Given the description of an element on the screen output the (x, y) to click on. 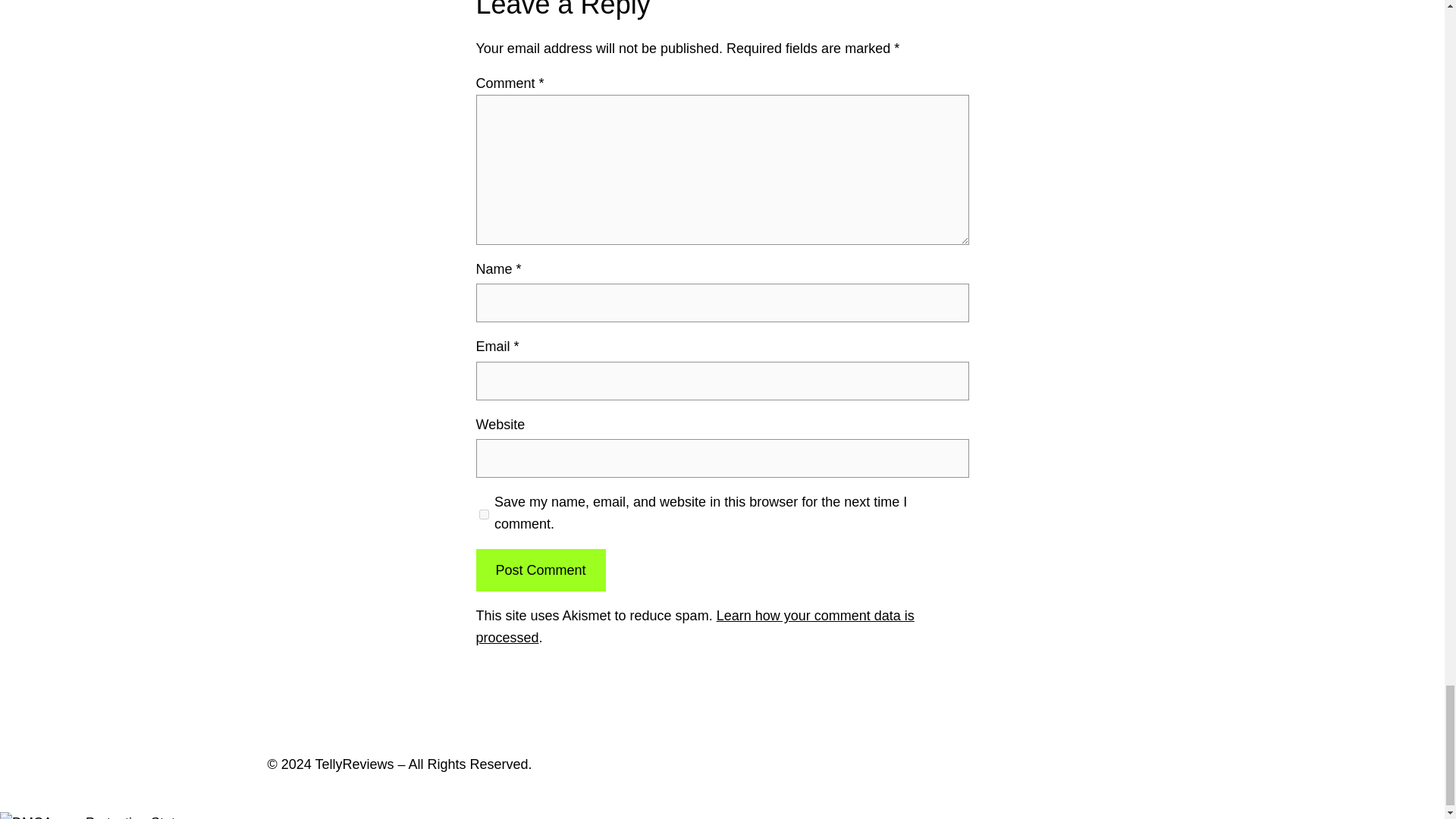
Post Comment (540, 570)
Post Comment (540, 570)
Learn how your comment data is processed (695, 626)
